Given the description of an element on the screen output the (x, y) to click on. 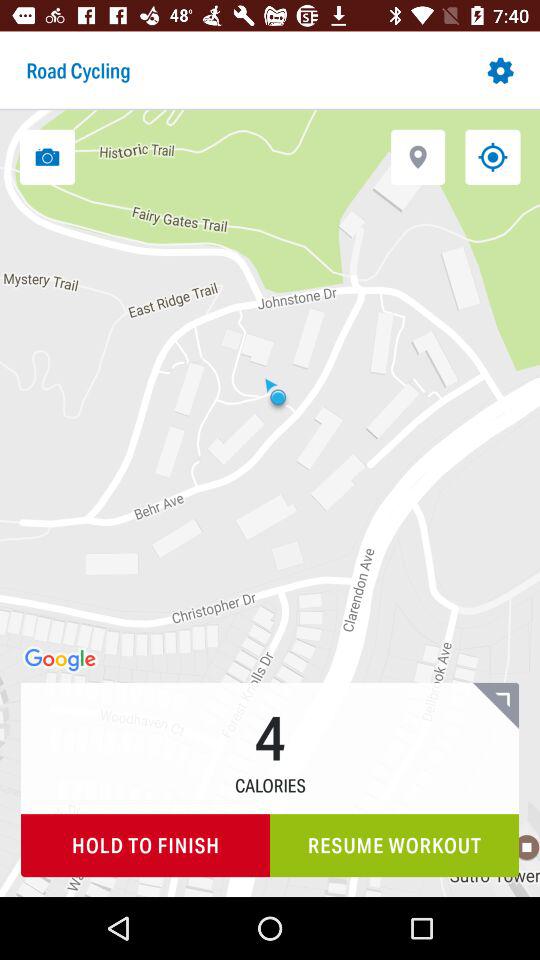
launch item below the calories item (145, 845)
